Given the description of an element on the screen output the (x, y) to click on. 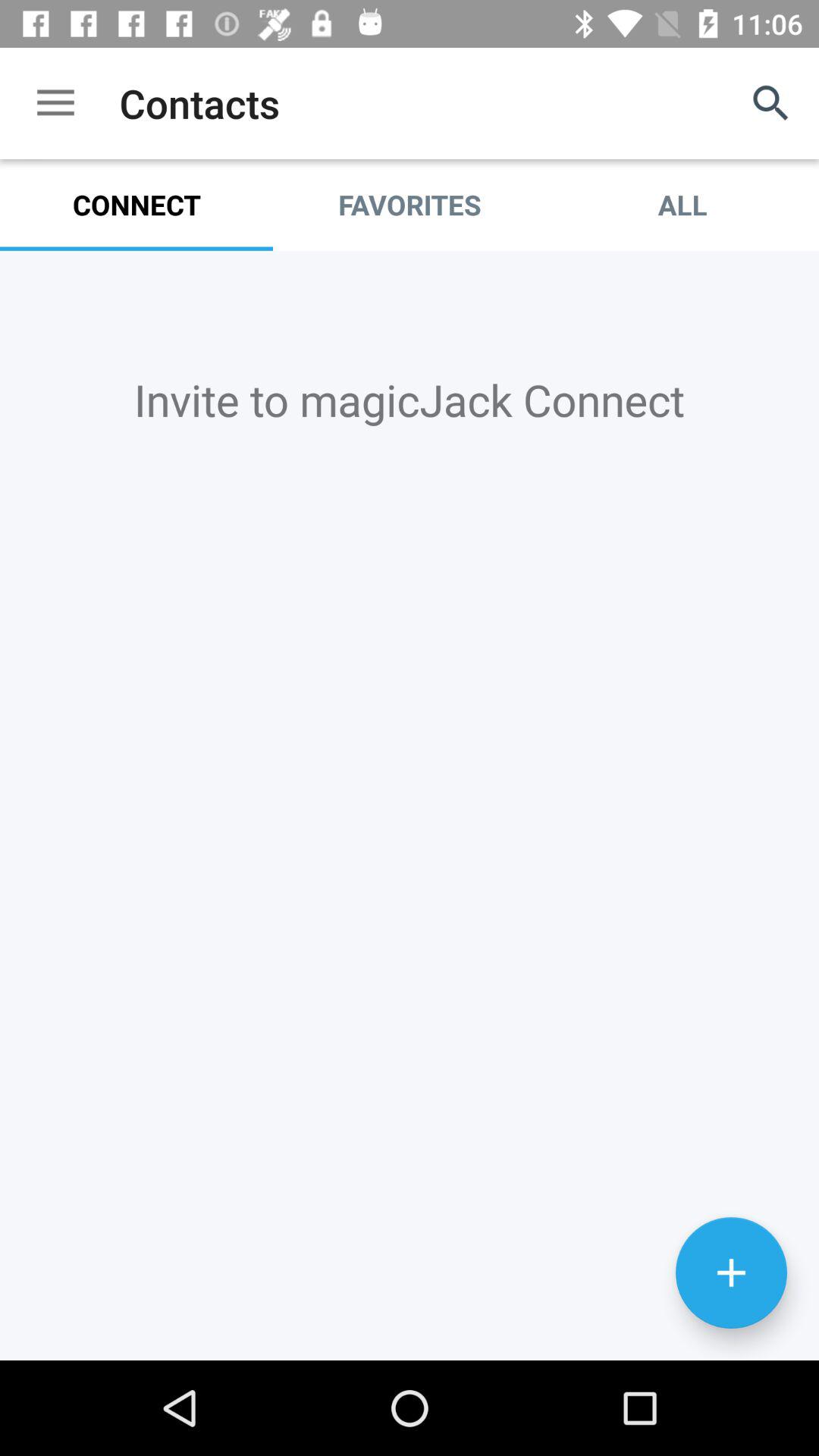
tap the icon above all item (771, 103)
